Given the description of an element on the screen output the (x, y) to click on. 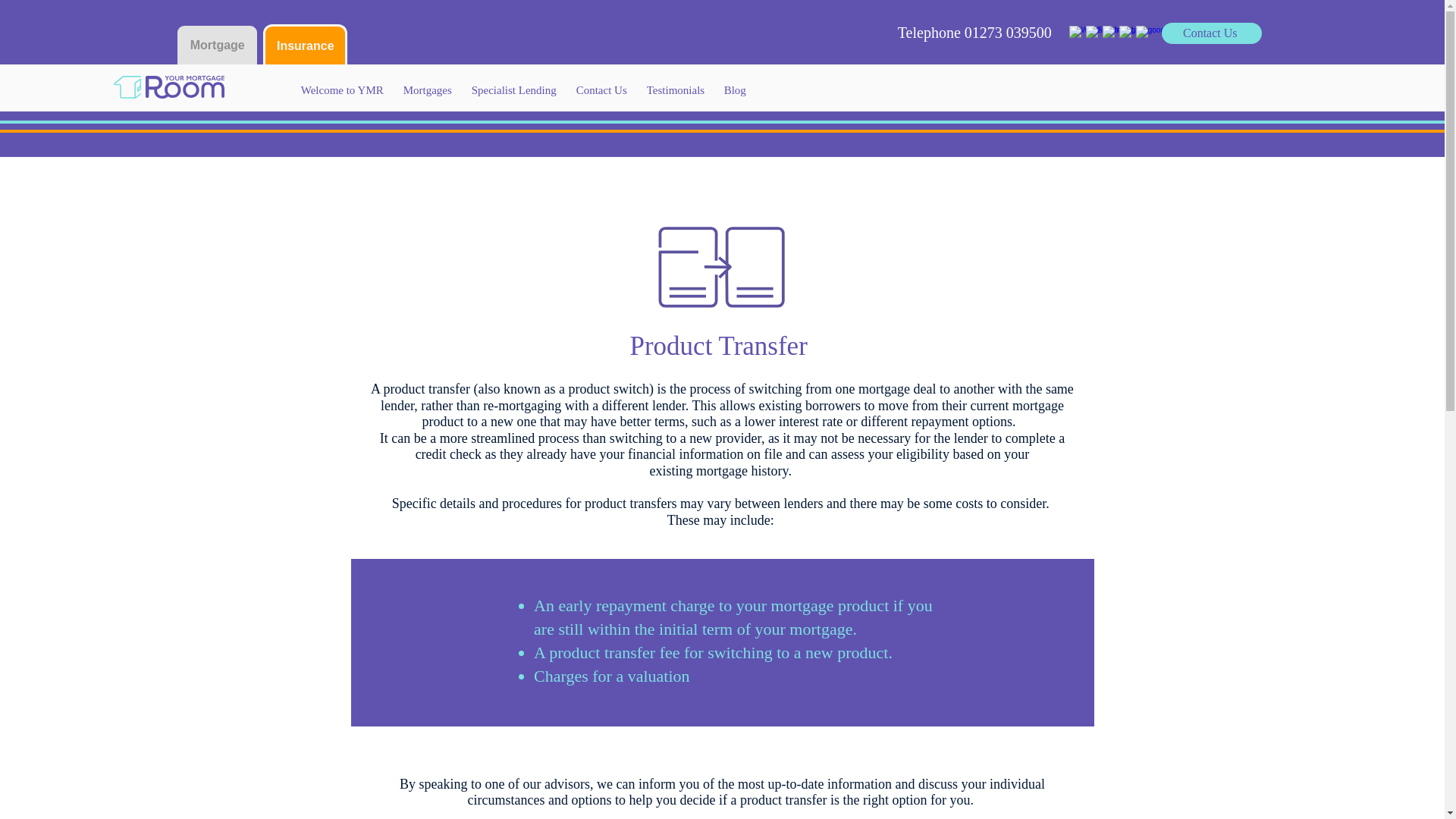
Mortgage (216, 43)
Contact Us (1211, 33)
Insurance (305, 44)
